Given the description of an element on the screen output the (x, y) to click on. 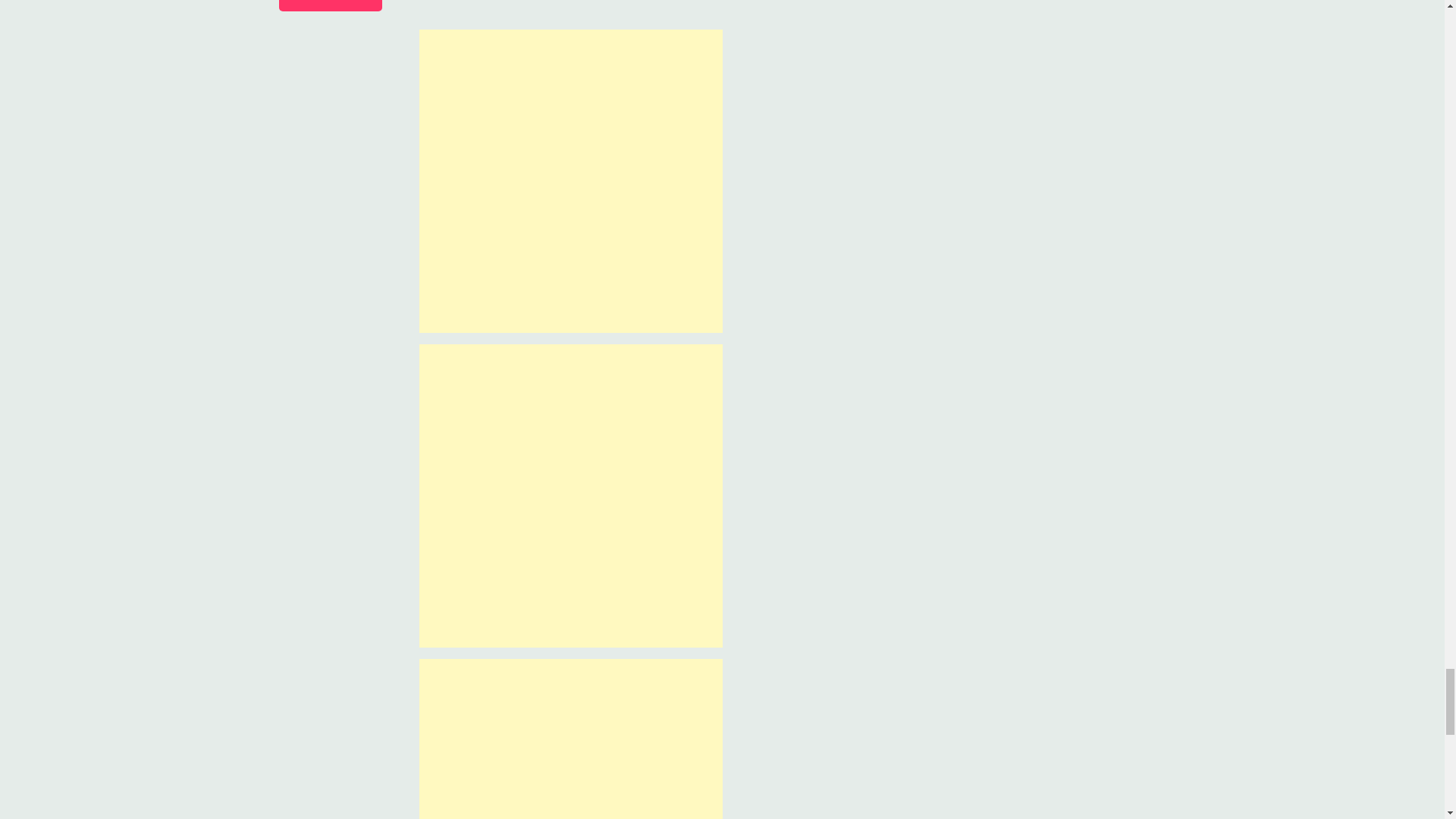
Post Comment (330, 5)
